Given the description of an element on the screen output the (x, y) to click on. 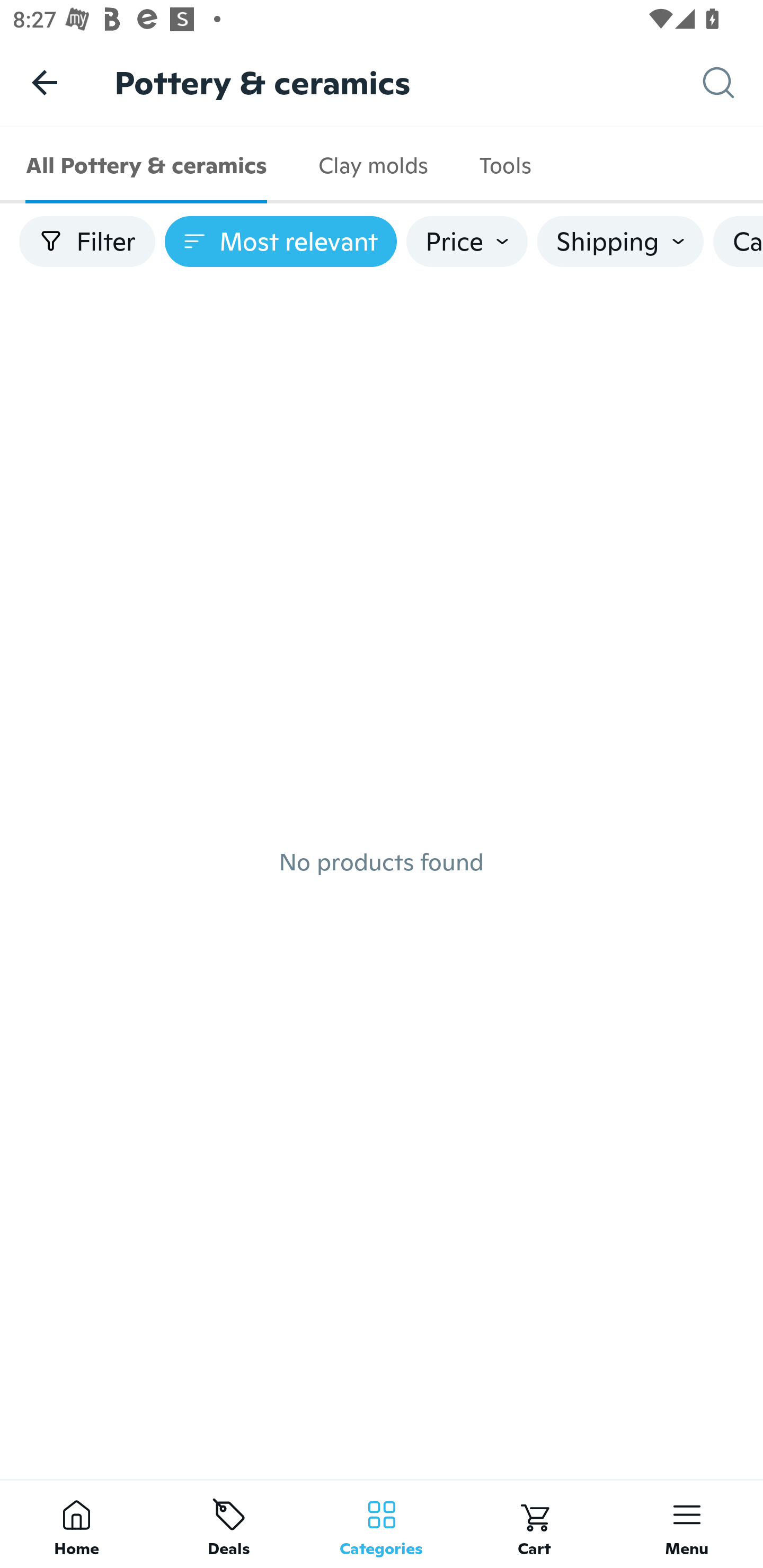
Navigate up (44, 82)
Search (732, 82)
All Pottery & ceramics (146, 165)
Clay molds (372, 165)
Tools (504, 165)
Filter (86, 241)
Most relevant (280, 241)
Price (466, 241)
Shipping (620, 241)
Home (76, 1523)
Deals (228, 1523)
Categories (381, 1523)
Cart (533, 1523)
Menu (686, 1523)
